Given the description of an element on the screen output the (x, y) to click on. 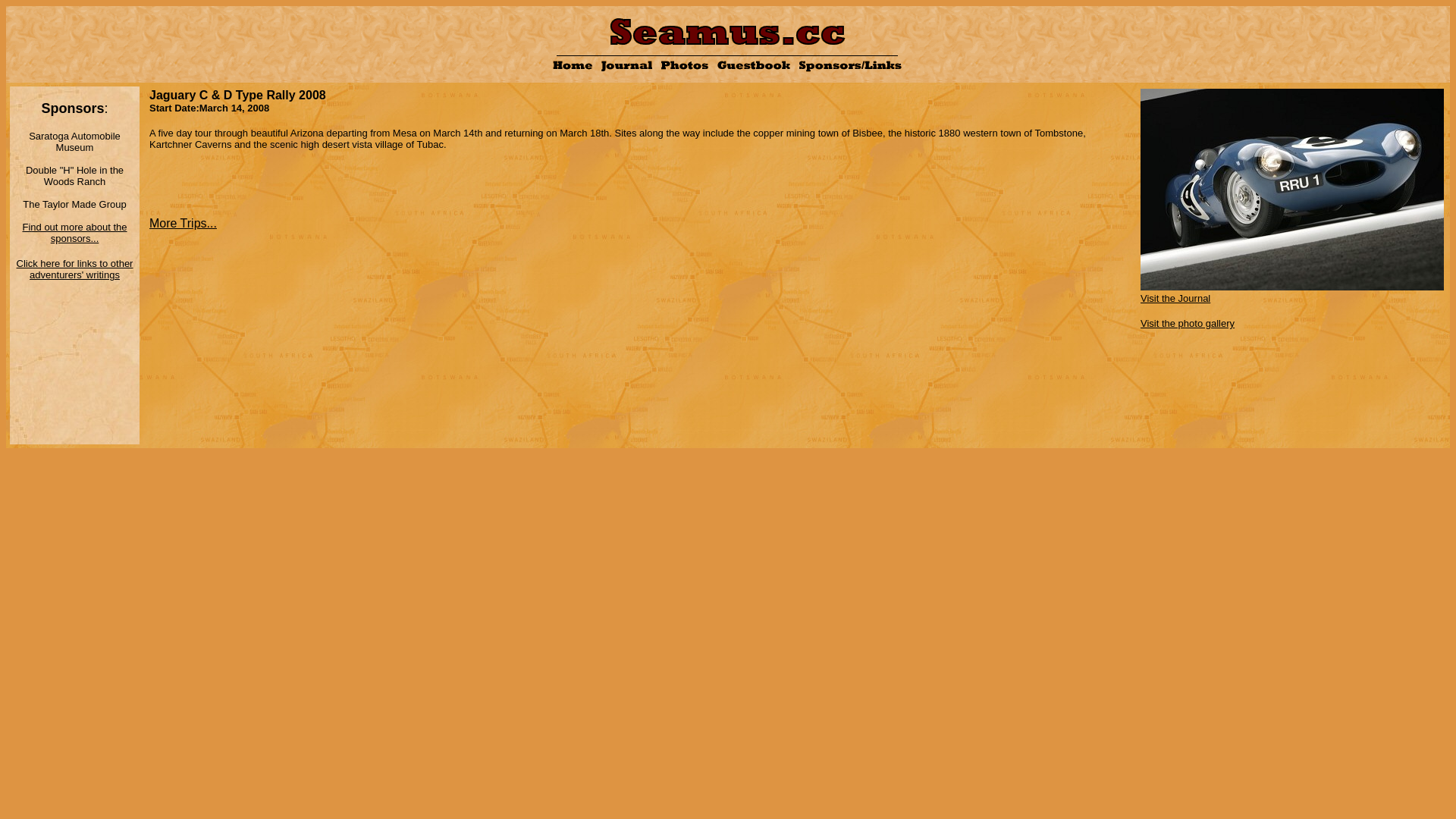
Visit the Journal Element type: text (1291, 291)
Click here for links to other adventurers' writings Element type: text (74, 268)
Find out more about the sponsors... Element type: text (73, 231)
More Trips... Element type: text (182, 222)
Visit the photo gallery Element type: text (1187, 322)
